Given the description of an element on the screen output the (x, y) to click on. 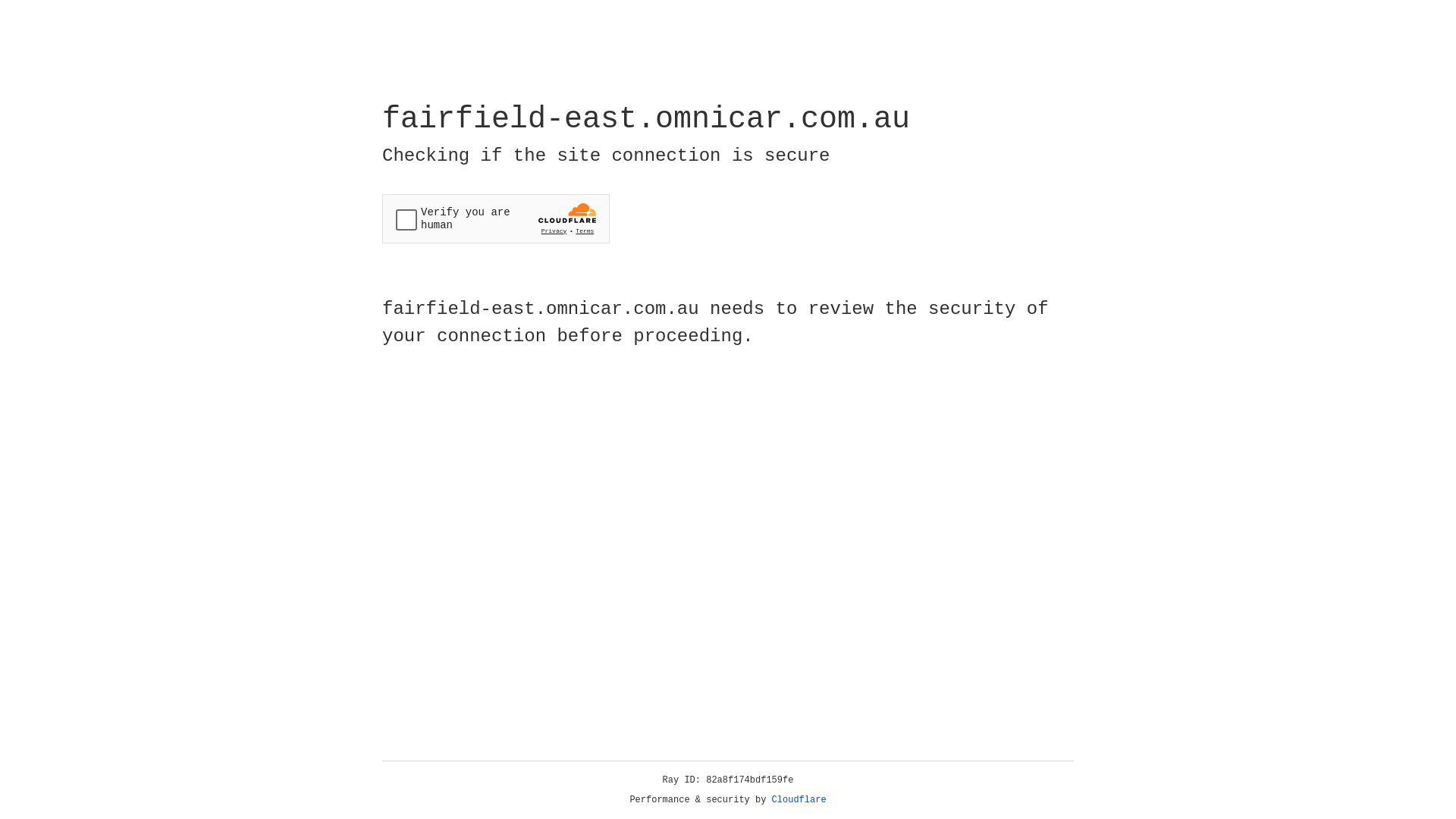
Cloudflare Element type: text (798, 799)
Widget containing a Cloudflare security challenge Element type: hover (495, 218)
